Given the description of an element on the screen output the (x, y) to click on. 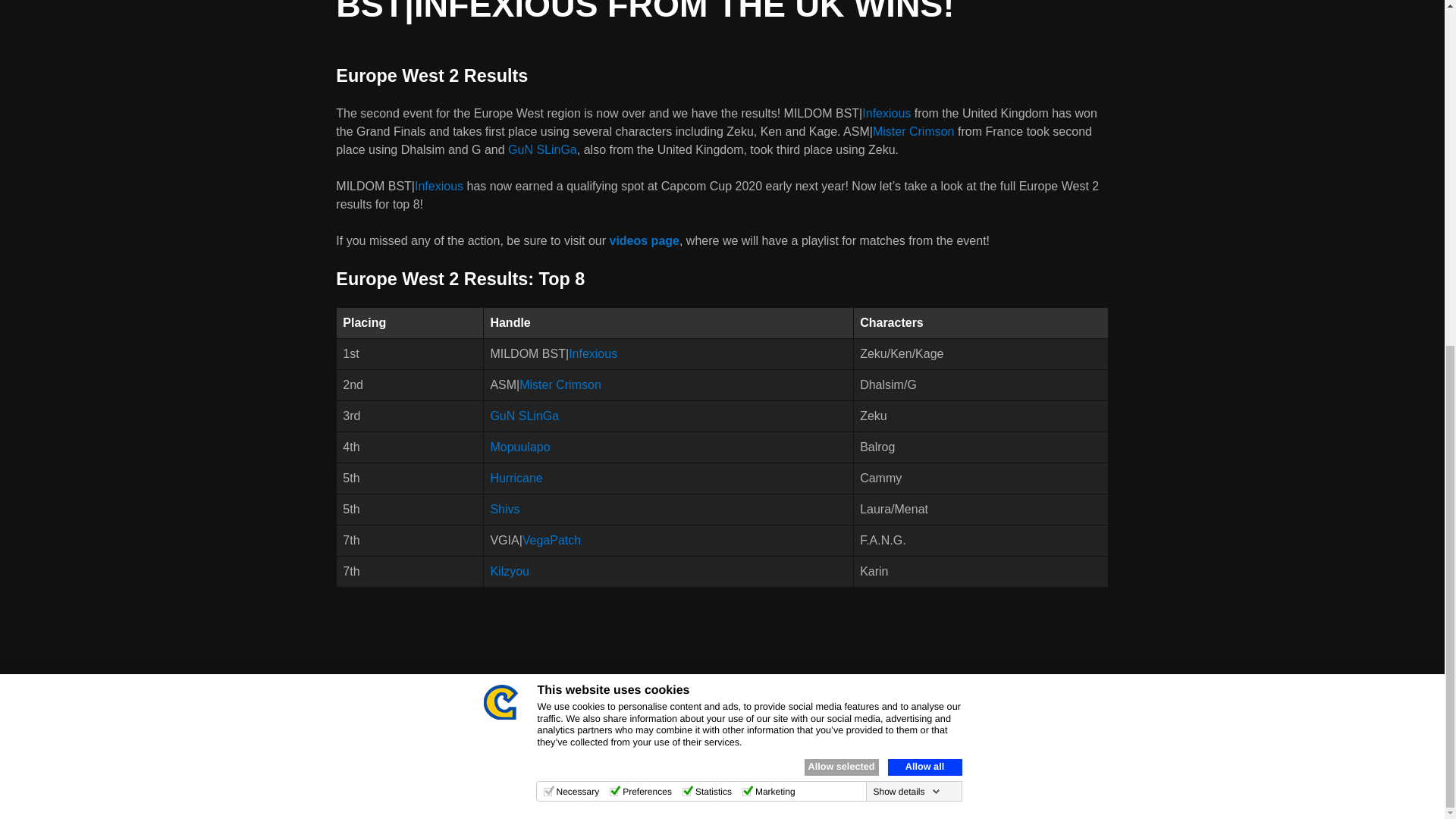
Allow selected (840, 173)
Allow all (923, 173)
Show details (905, 197)
